Given the description of an element on the screen output the (x, y) to click on. 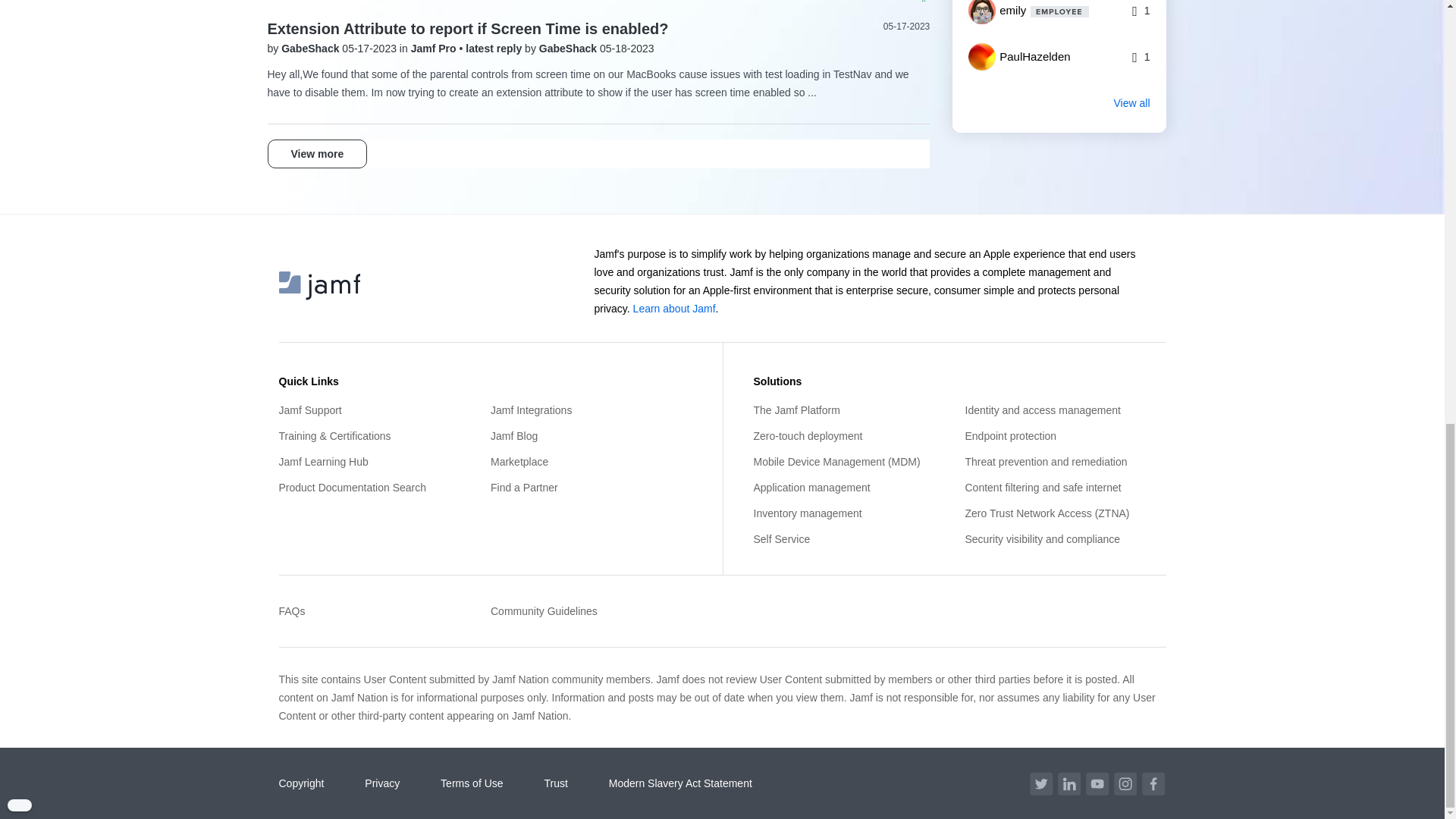
latest reply (494, 48)
Jamf Pro (435, 48)
View more (316, 153)
GabeShack (568, 48)
GabeShack (311, 48)
Extension Attribute to report if Screen Time is enabled? (467, 28)
